Given the description of an element on the screen output the (x, y) to click on. 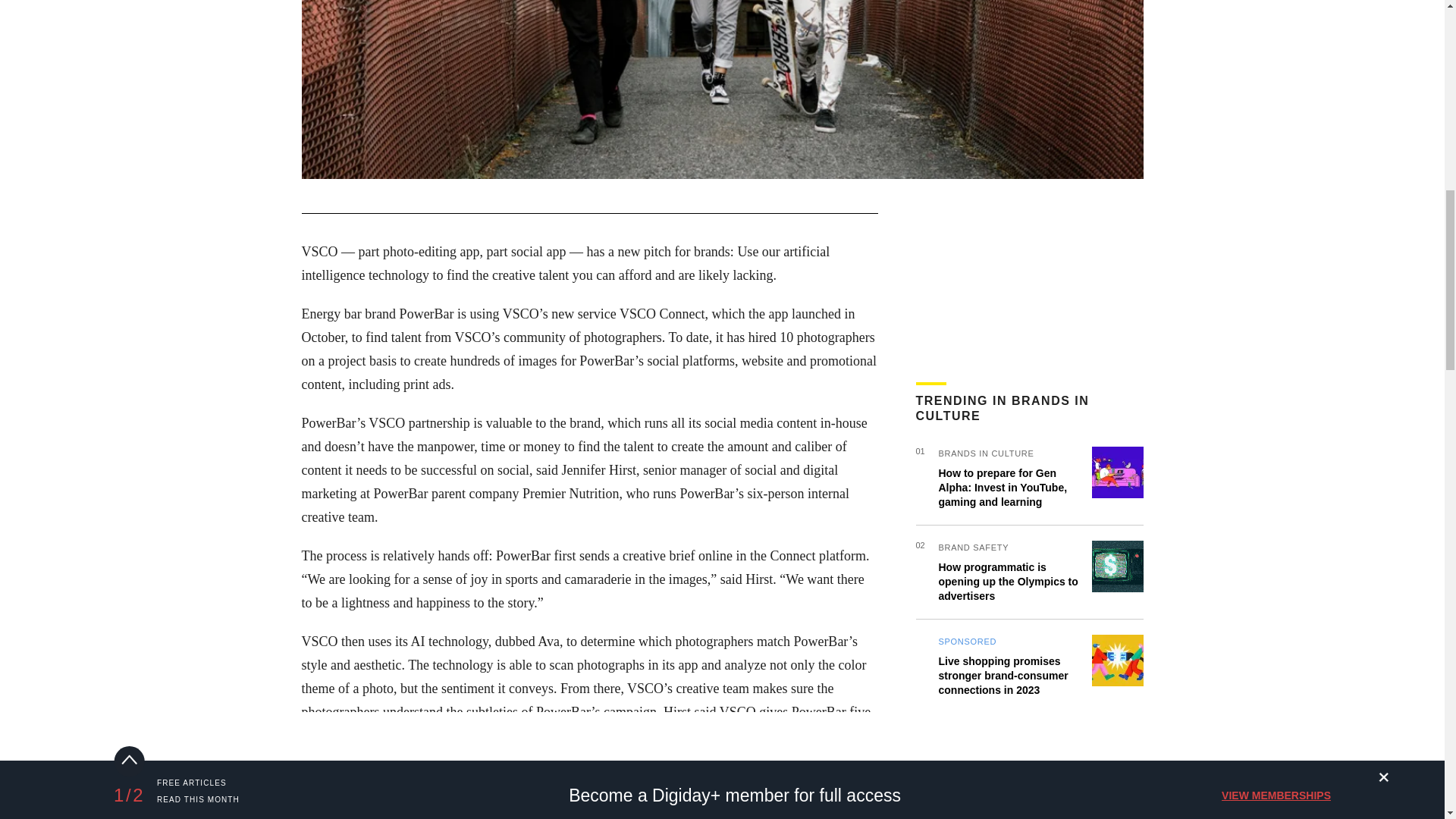
How programmatic is opening up the Olympics to advertisers (1008, 581)
